Given the description of an element on the screen output the (x, y) to click on. 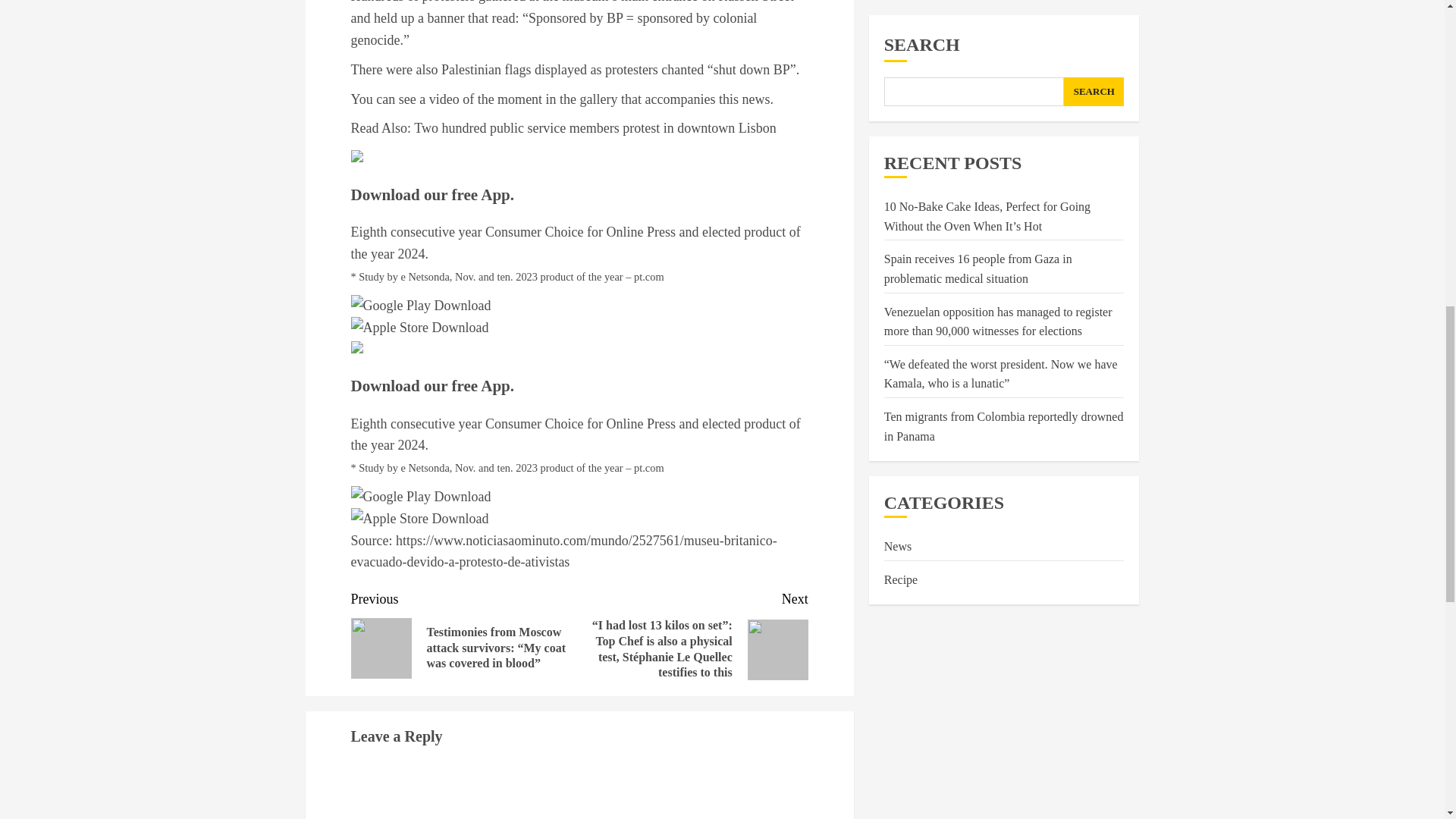
Comment Form (579, 790)
